Given the description of an element on the screen output the (x, y) to click on. 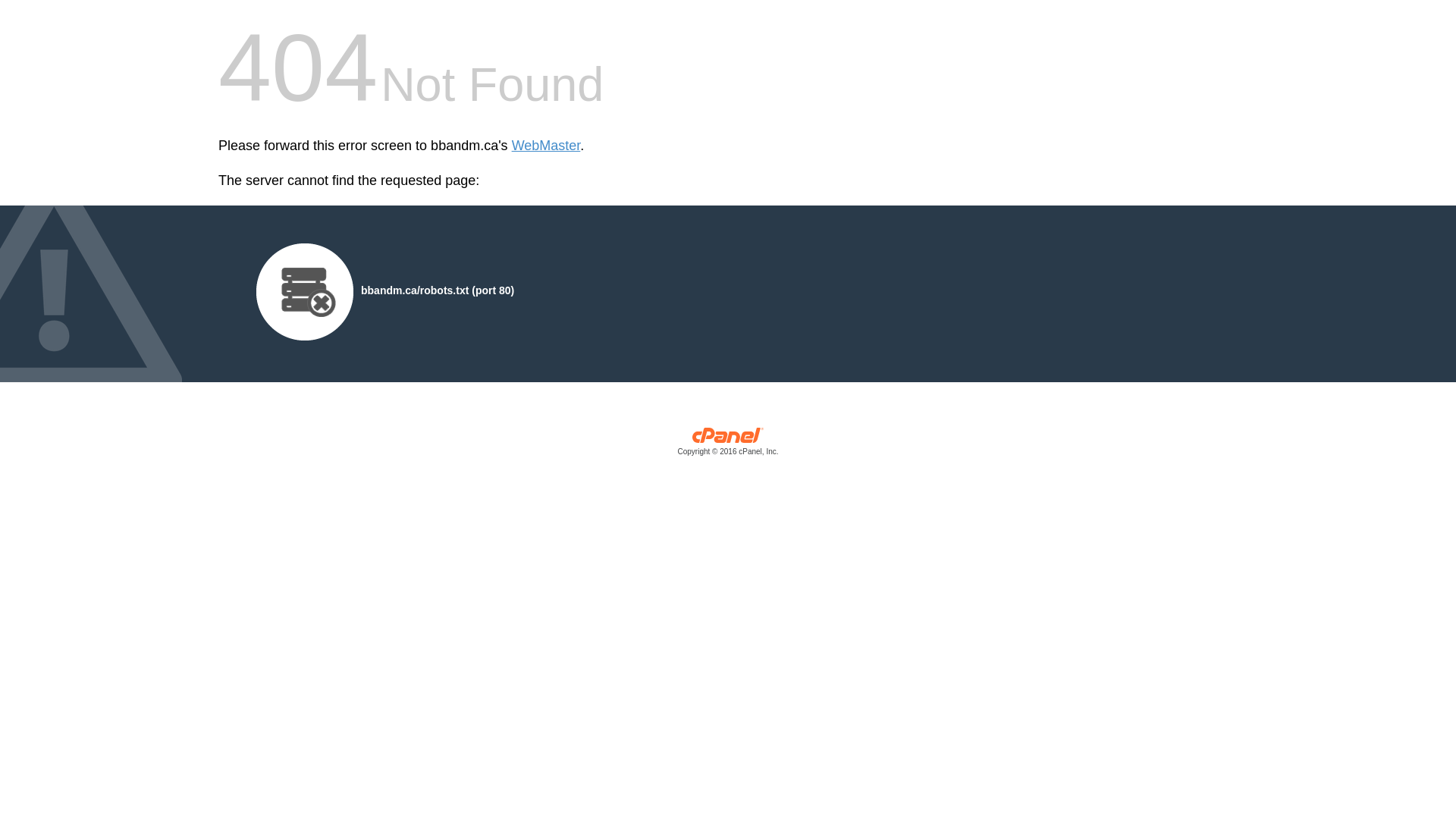
WebMaster Element type: text (545, 145)
